Given the description of an element on the screen output the (x, y) to click on. 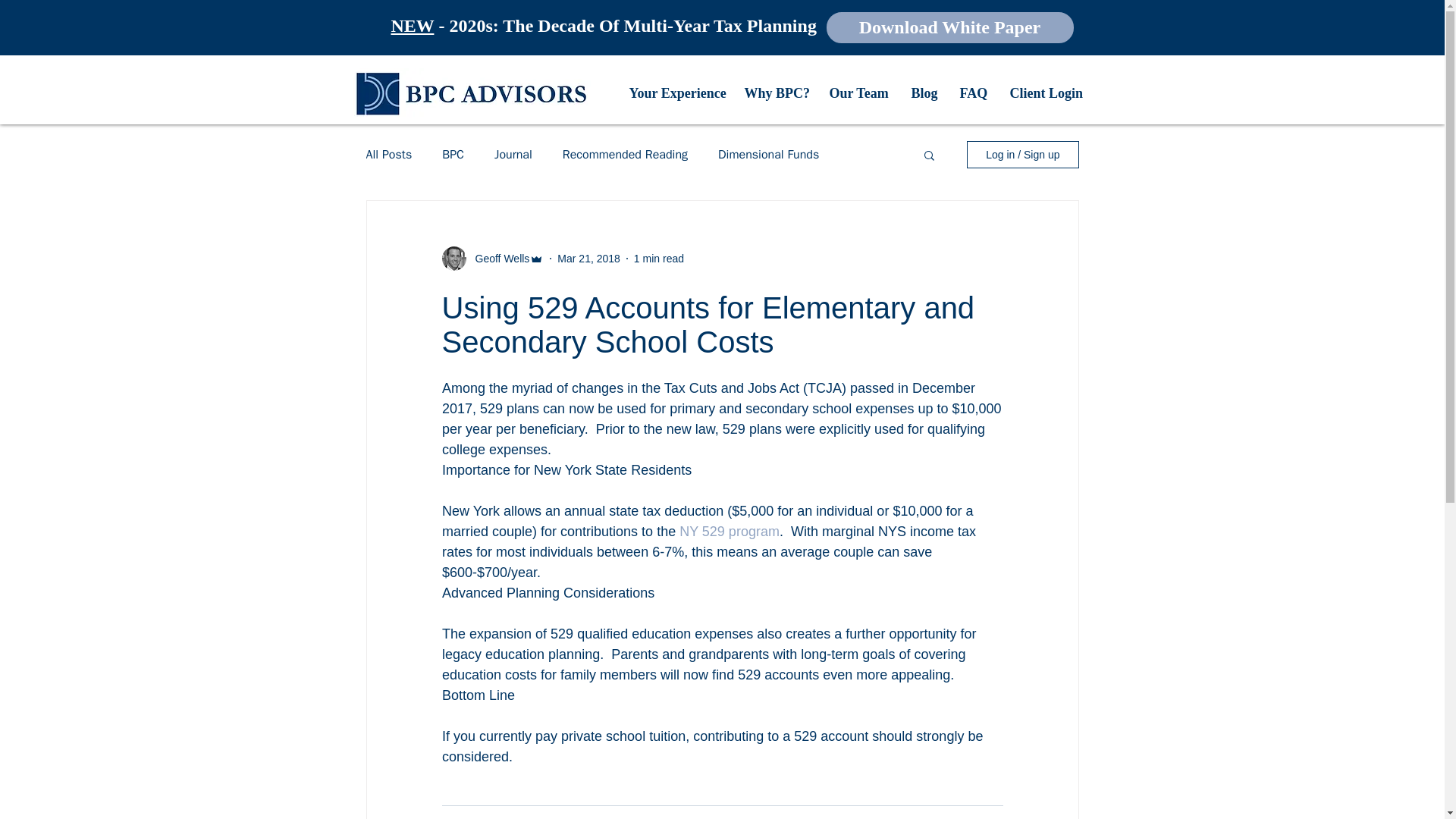
All Posts (388, 154)
Recommended Reading (624, 154)
Why BPC? (774, 93)
Blog (923, 93)
Geoff Wells (497, 258)
NY 529 program (728, 531)
Client Login (1045, 93)
Your Experience (674, 93)
FAQ (972, 93)
Mar 21, 2018 (588, 257)
1 min read (658, 257)
BPC (453, 154)
Download White Paper (950, 27)
Journal (513, 154)
Dimensional Funds (767, 154)
